Given the description of an element on the screen output the (x, y) to click on. 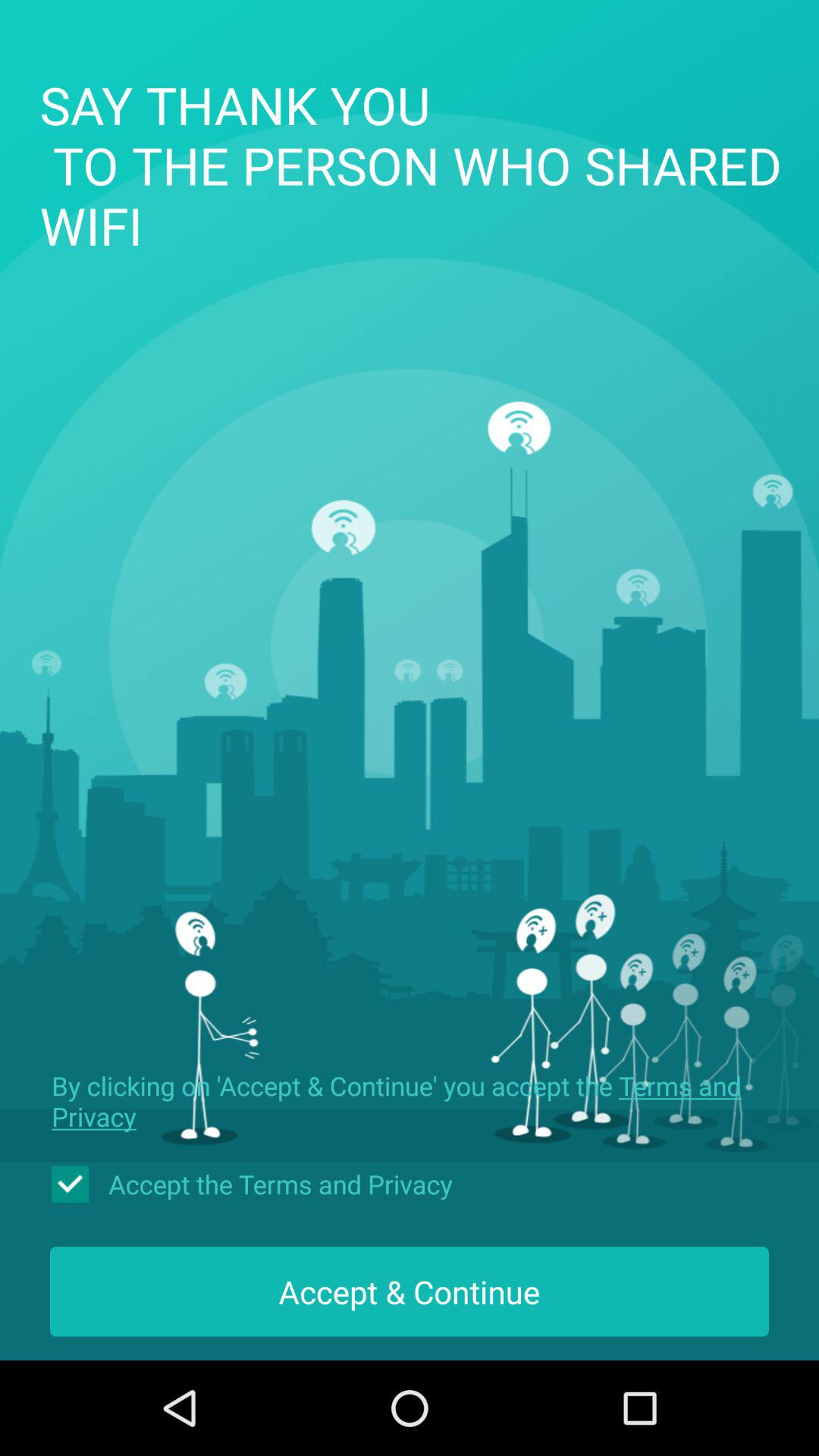
press the icon below the say thank you (409, 1101)
